Given the description of an element on the screen output the (x, y) to click on. 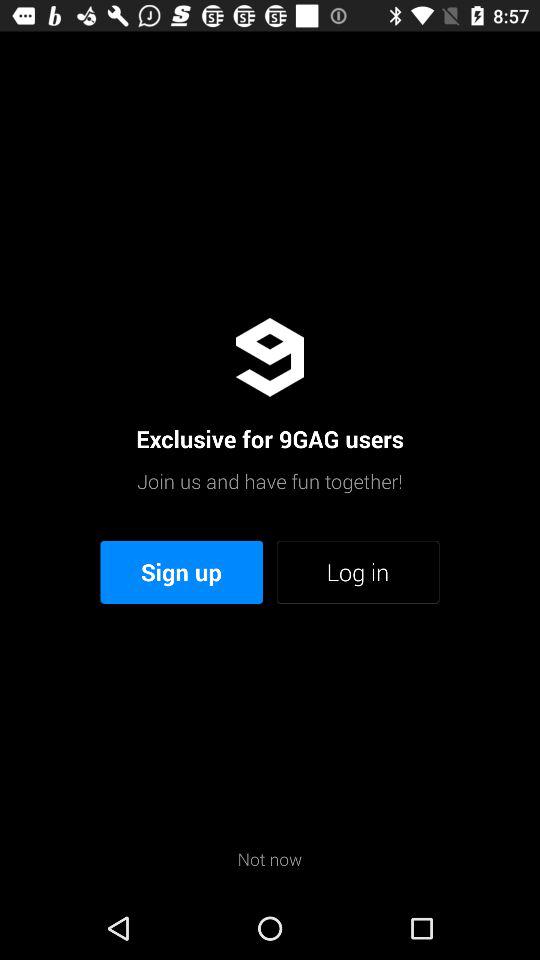
launch the not now (269, 858)
